Given the description of an element on the screen output the (x, y) to click on. 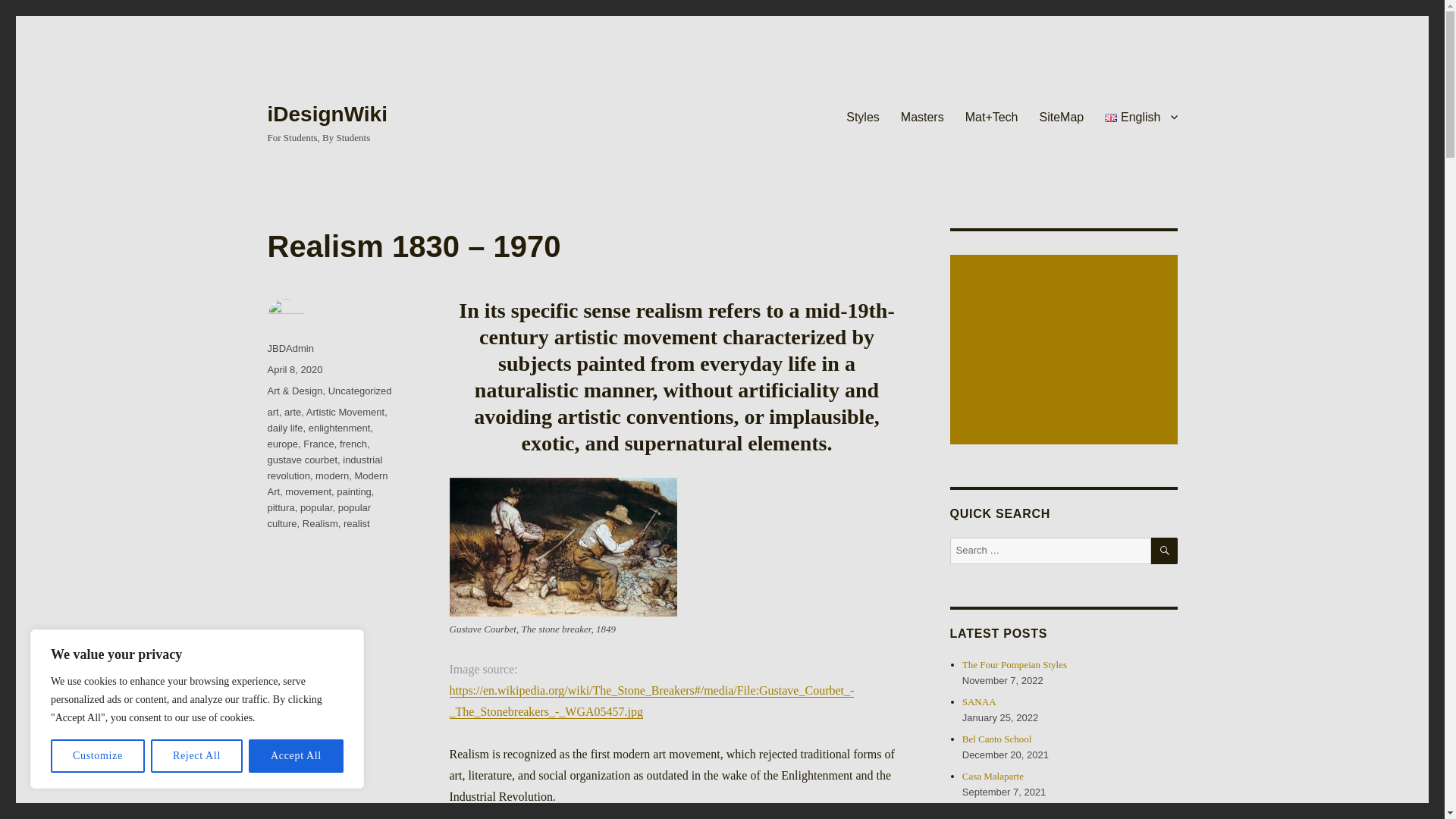
SiteMap (1061, 116)
Reject All (197, 756)
iDesignWiki (326, 114)
Customize (97, 756)
Masters (922, 116)
English (1141, 116)
Styles (862, 116)
Accept All (295, 756)
